Given the description of an element on the screen output the (x, y) to click on. 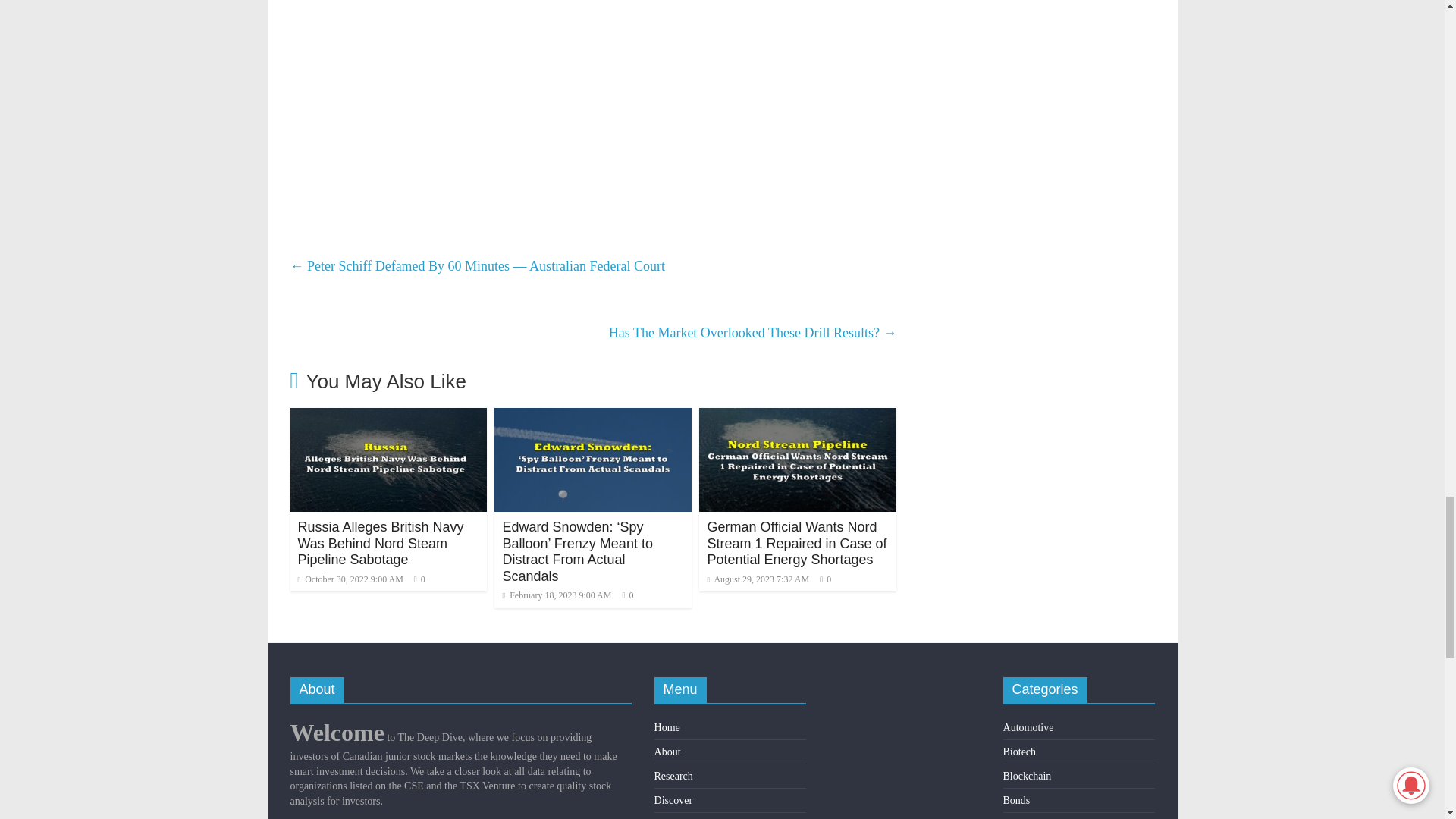
9:00 am (350, 579)
